Given the description of an element on the screen output the (x, y) to click on. 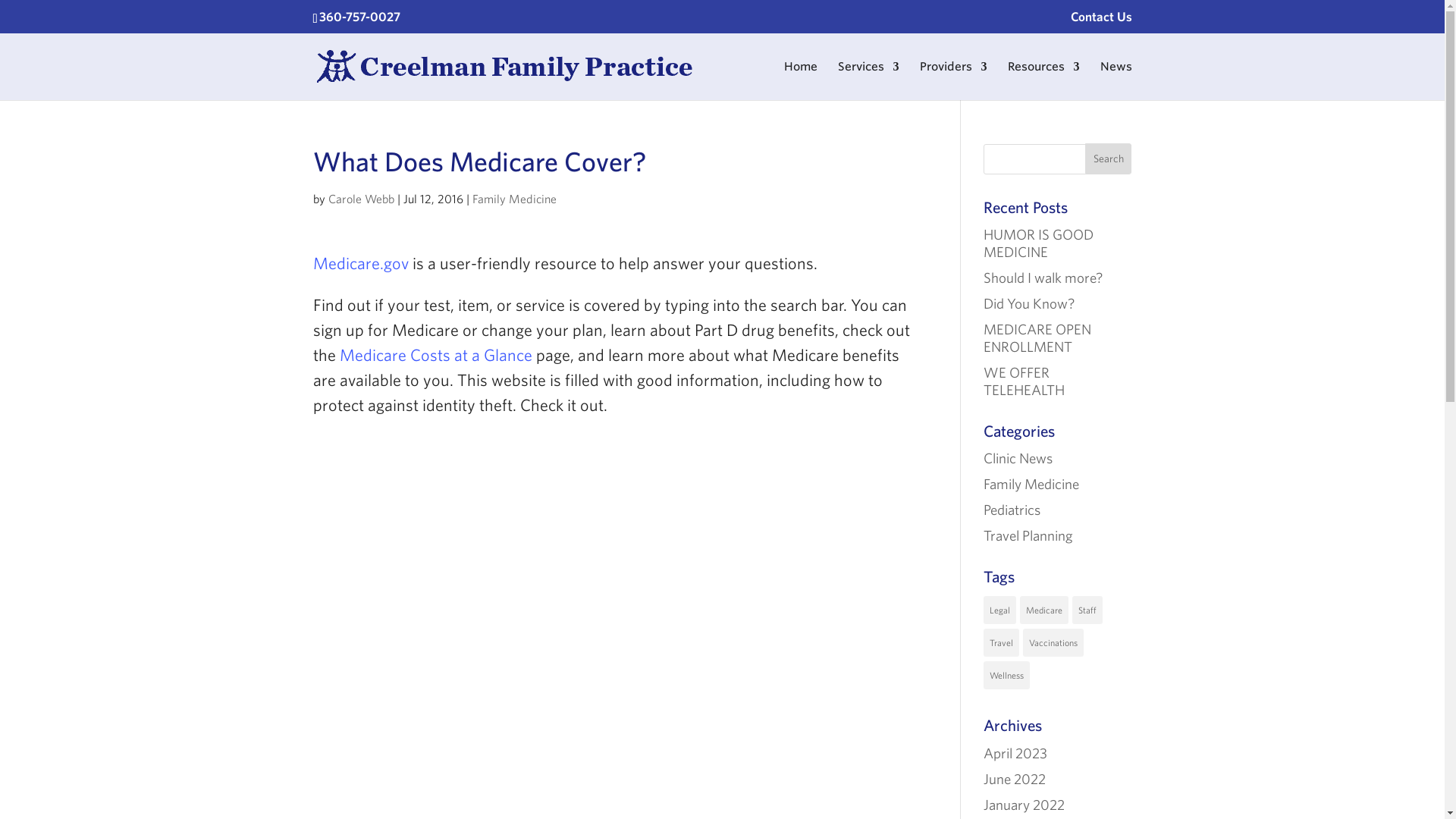
Posts by Carole Webb (360, 198)
Services (867, 78)
Search (1108, 158)
Providers (952, 78)
Resources (1042, 78)
Contact Us (1101, 20)
Search (1108, 158)
Carole Webb (360, 198)
Should I walk more? (1043, 277)
MEDICARE OPEN ENROLLMENT (1037, 337)
Medicare Costs at a Glance (435, 353)
Family Medicine (513, 198)
HUMOR IS GOOD MEDICINE (1038, 243)
Medicare.gov (360, 262)
Did You Know? (1029, 303)
